Given the description of an element on the screen output the (x, y) to click on. 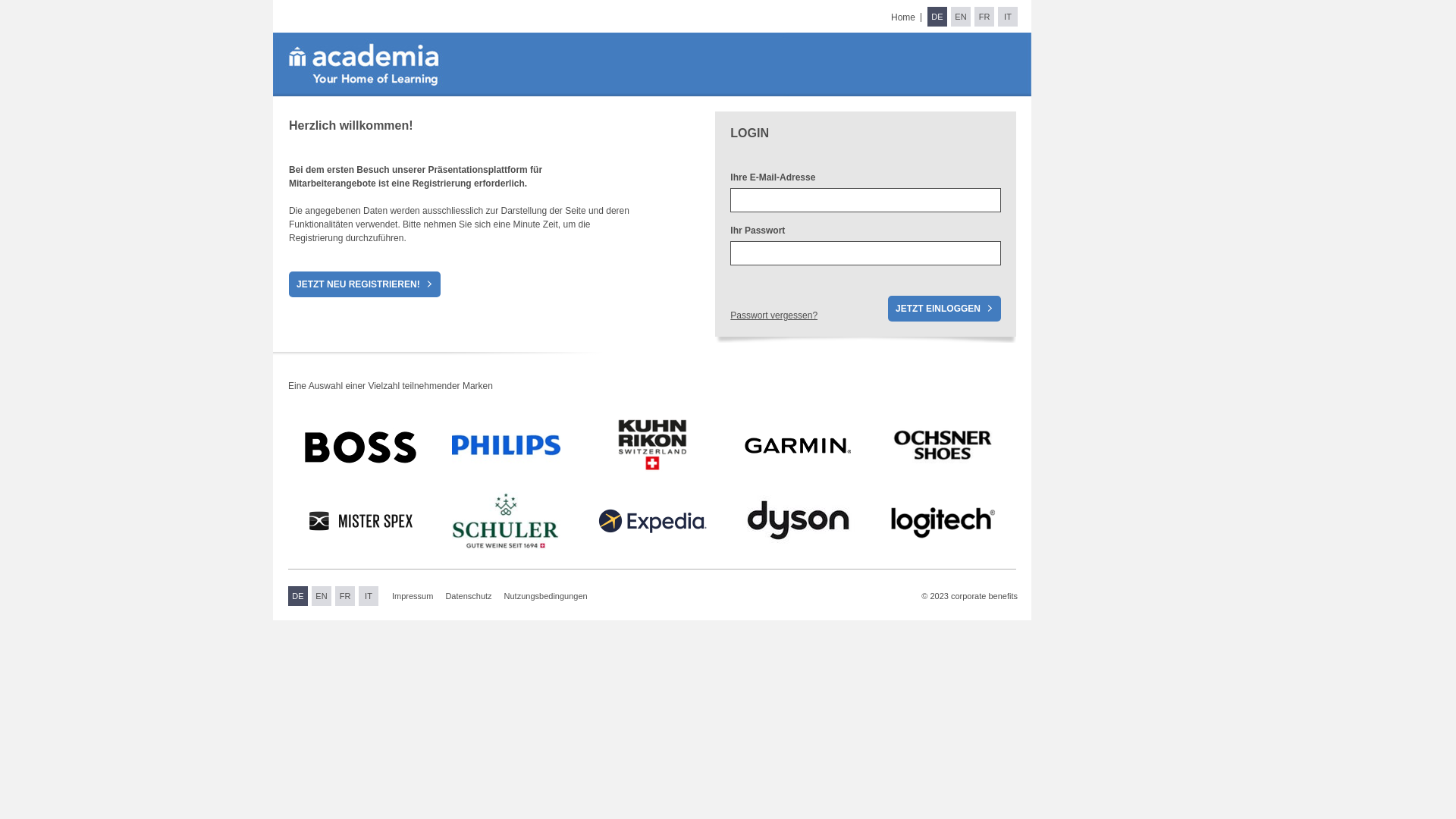
Datenschutz Element type: text (468, 595)
IT Element type: text (1007, 16)
Passwort vergessen? Element type: text (773, 315)
JETZT NEU REGISTRIEREN! Element type: text (364, 284)
FR Element type: text (344, 595)
EN Element type: text (321, 595)
FR Element type: text (984, 16)
Impressum Element type: text (412, 595)
IT Element type: text (368, 595)
DE Element type: text (937, 16)
DE Element type: text (297, 595)
Jetzt einloggen Element type: text (944, 308)
Nutzungsbedingungen Element type: text (545, 595)
Home Element type: text (903, 17)
EN Element type: text (960, 16)
